Given the description of an element on the screen output the (x, y) to click on. 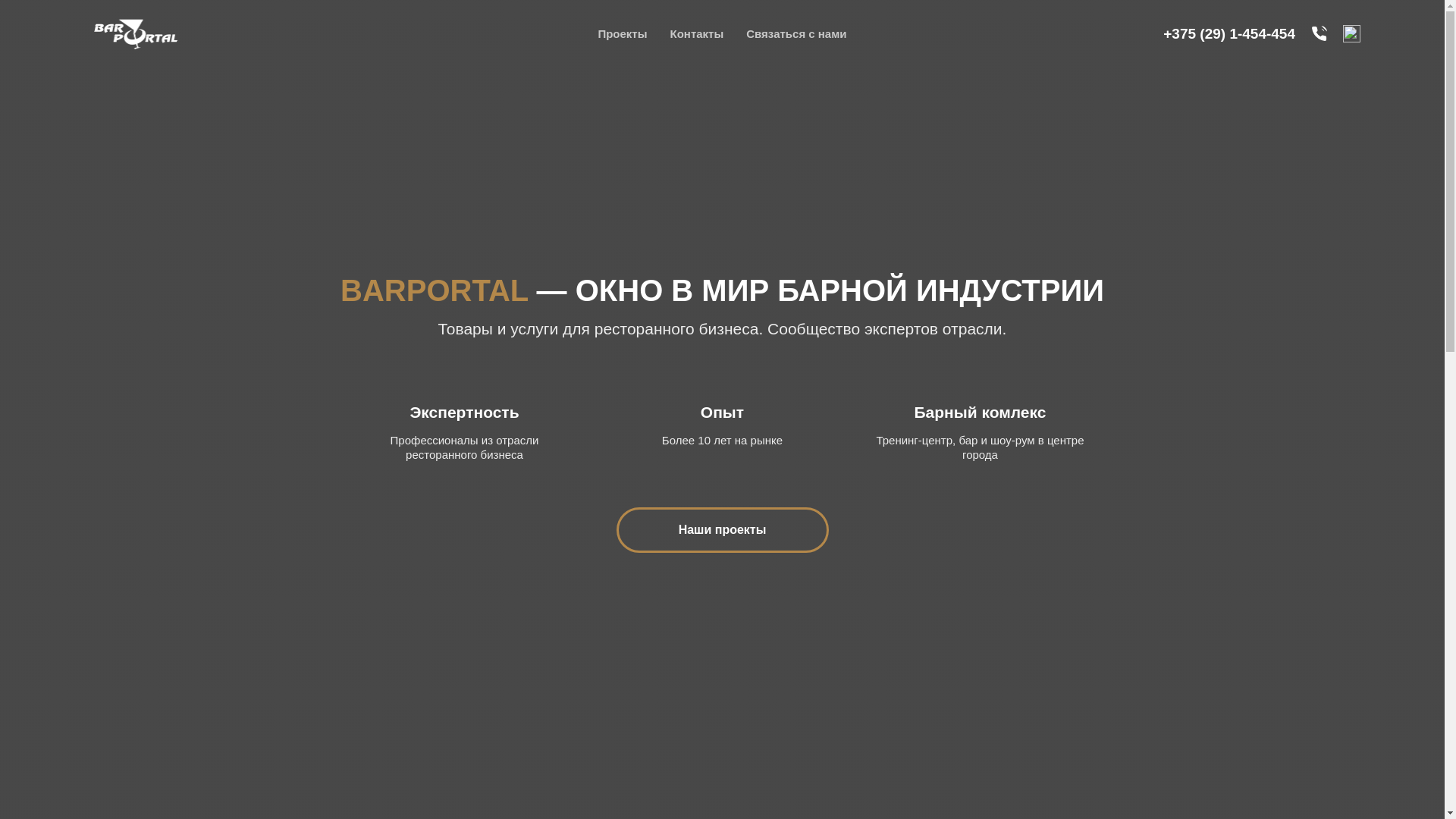
+375 (29) 1-454-454 Element type: text (1228, 33)
